Given the description of an element on the screen output the (x, y) to click on. 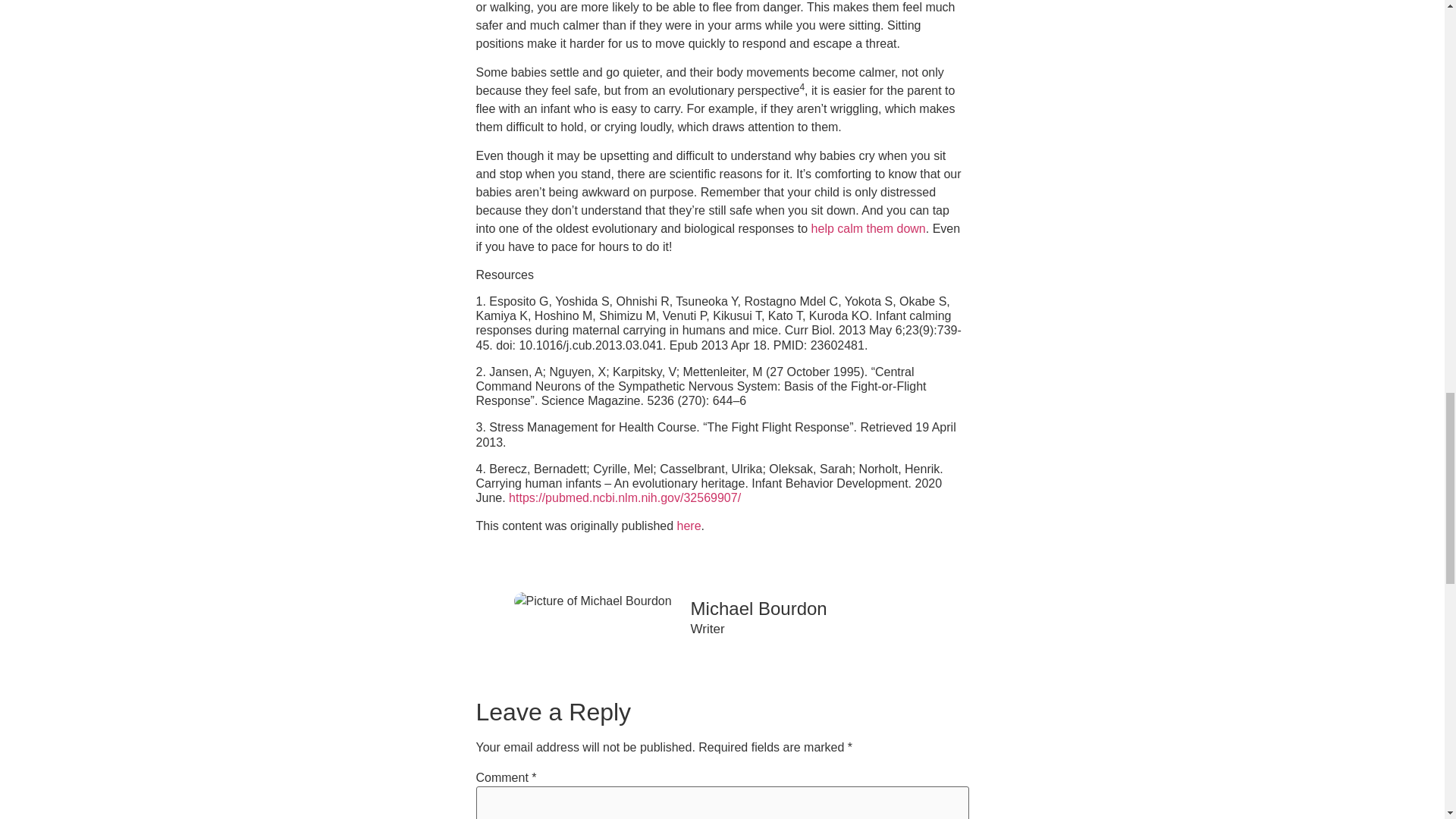
help calm them down (868, 228)
here (689, 525)
